Given the description of an element on the screen output the (x, y) to click on. 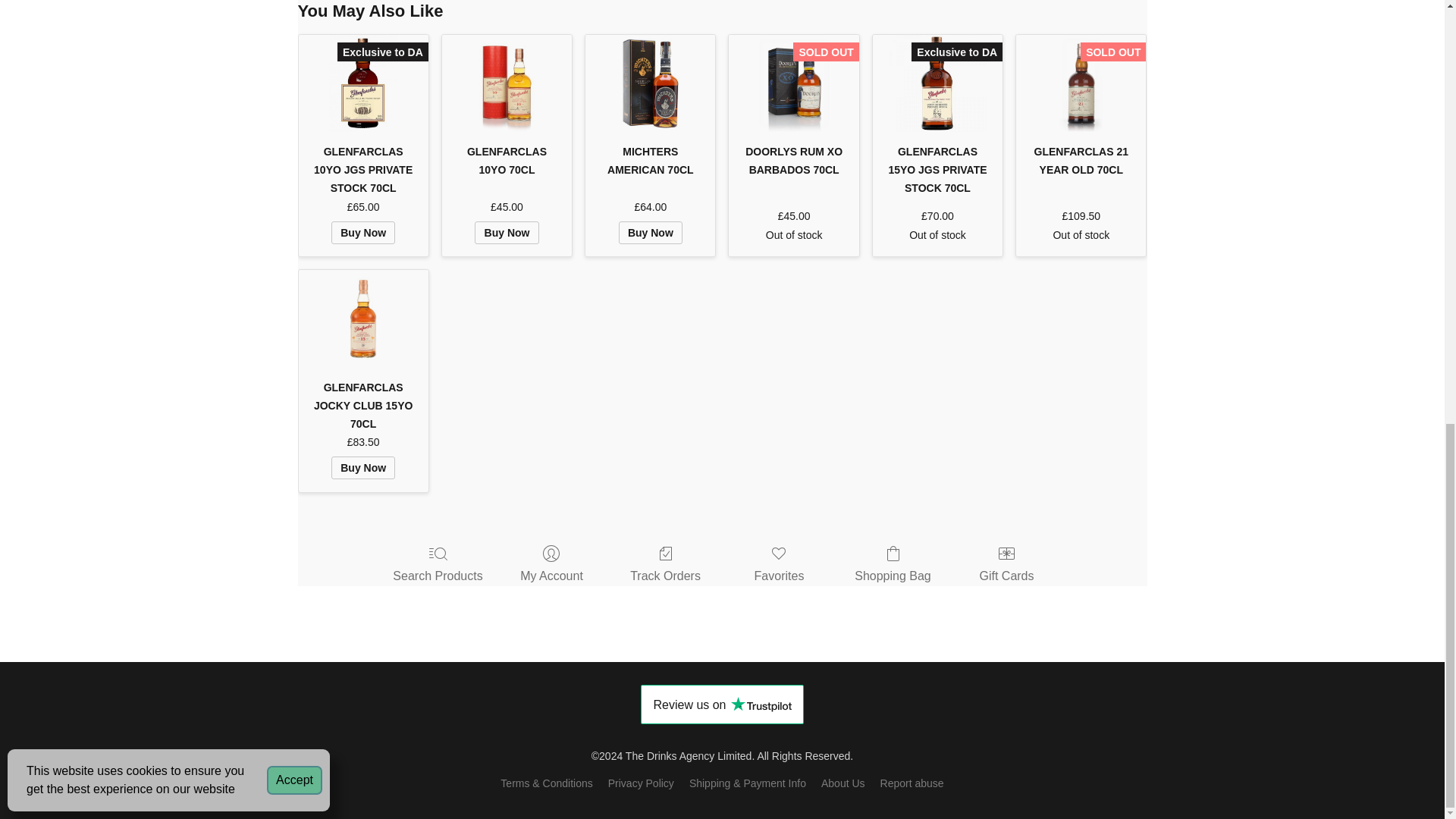
GLENFARCLAS JOCKY CLUB 15YO 70CL (363, 318)
SOLD OUT (794, 83)
Buy Now (362, 232)
GLENFARCLAS 10YO JGS PRIVATE STOCK 70CL (363, 83)
MICHTERS AMERICAN 70CL (651, 83)
GLENFARCLAS 10YO 70CL (507, 160)
Customer reviews powered by Trustpilot (721, 703)
Buy Now (650, 232)
DOORLYS RUM XO BARBADOS 70CL (794, 160)
GLENFARCLAS JOCKY CLUB 15YO 70CL (363, 318)
GLENFARCLAS 21 YEAR OLD 70CL (1080, 160)
SOLD OUT (1080, 83)
MICHTERS AMERICAN 70CL (649, 160)
GLENFARCLAS 21 YEAR OLD 70CL (1080, 83)
GLENFARCLAS 15YO JGS PRIVATE STOCK 70CL (937, 83)
